Given the description of an element on the screen output the (x, y) to click on. 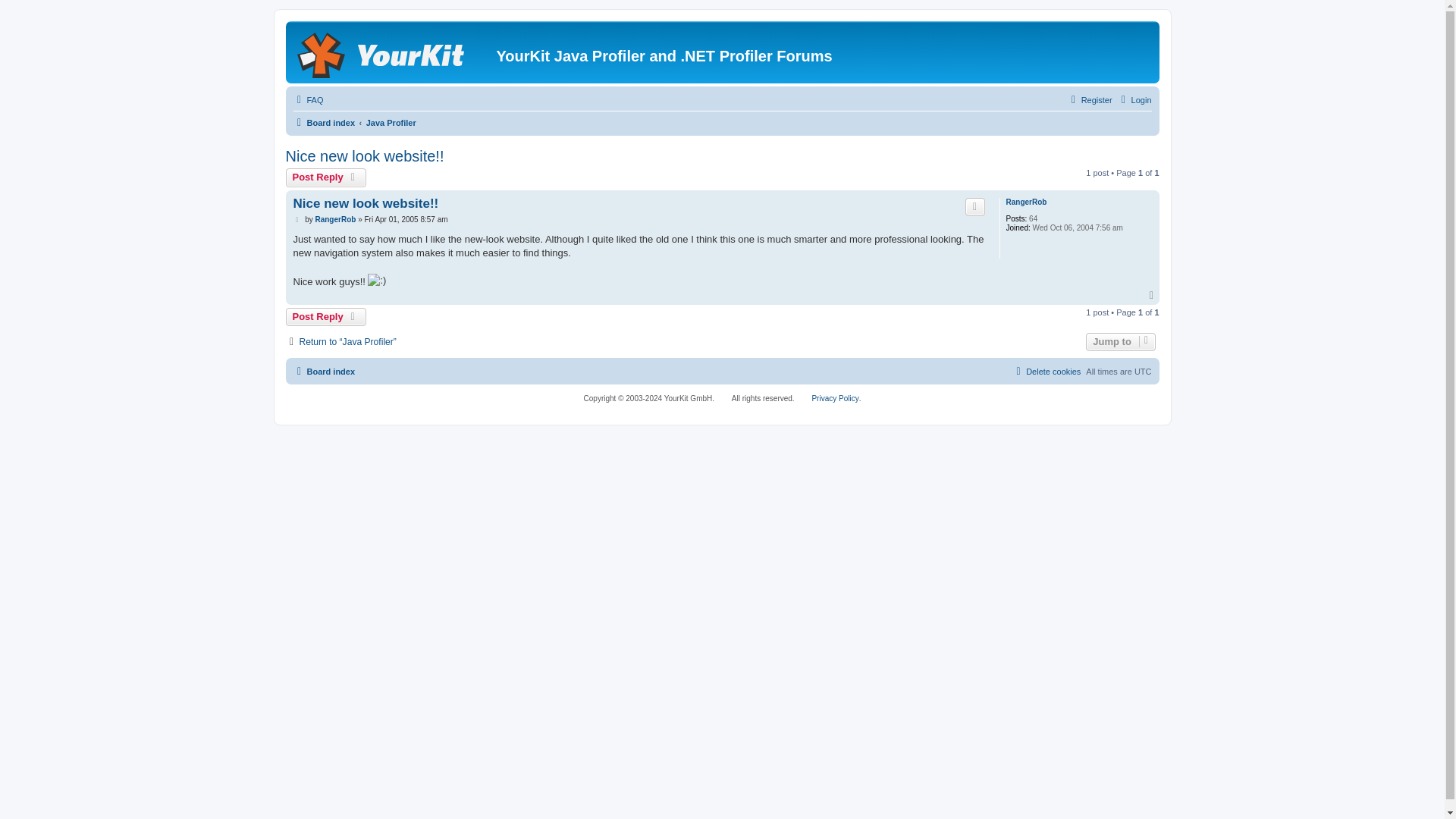
Post (297, 219)
Delete cookies (1045, 371)
Login (1134, 99)
Top (1151, 295)
Post a reply (325, 316)
Nice new look website!! (365, 203)
Privacy Policy (834, 398)
Frequently Asked Questions (307, 99)
Java Profiler (391, 122)
FAQ (307, 99)
Nice new look website!! (364, 156)
Top (1151, 295)
Jump to (1120, 341)
Board index (323, 371)
Smile (376, 280)
